Given the description of an element on the screen output the (x, y) to click on. 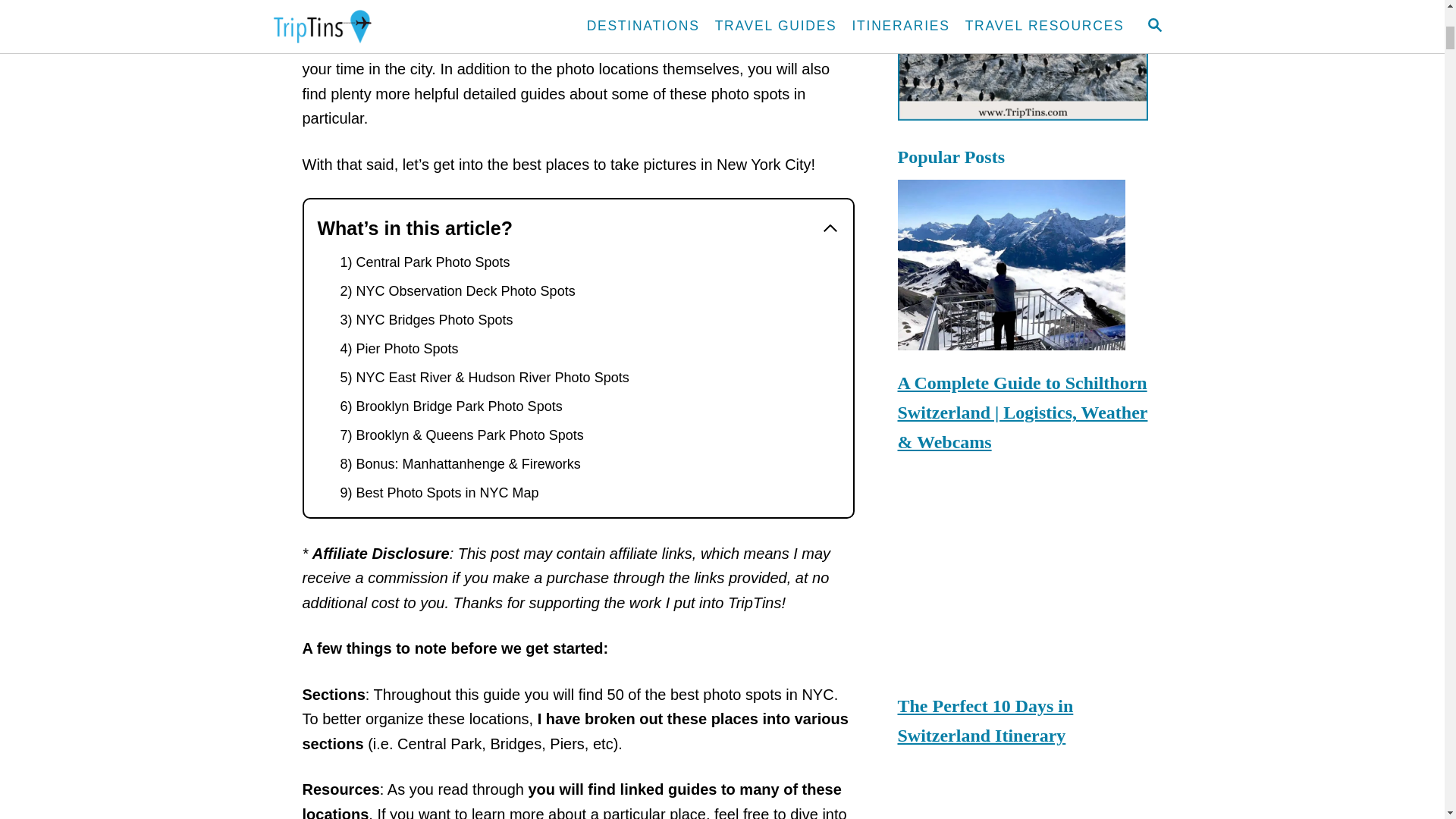
The Murren to Gimmelwald Hiking Trail (1023, 807)
The Perfect 10 Days in Switzerland Itinerary (1023, 724)
The Perfect 10 Days in Switzerland Itinerary (1023, 587)
